Given the description of an element on the screen output the (x, y) to click on. 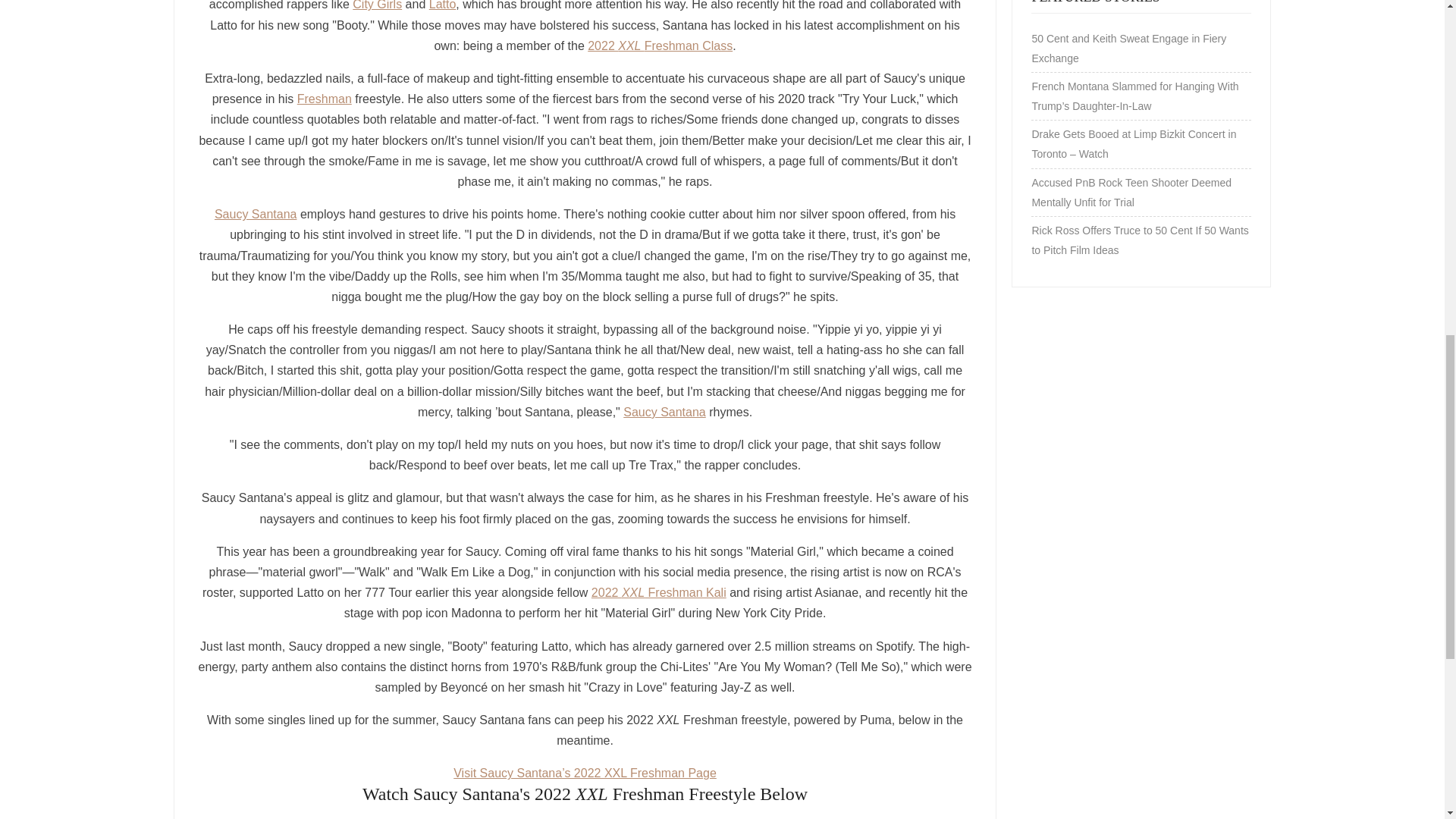
2022 XXL Freshman Kali (658, 592)
Freshman (324, 98)
Latto (443, 5)
2022 XXL Freshman Class (660, 45)
Saucy Santana (664, 411)
City Girls (376, 5)
Saucy Santana (255, 214)
